Given the description of an element on the screen output the (x, y) to click on. 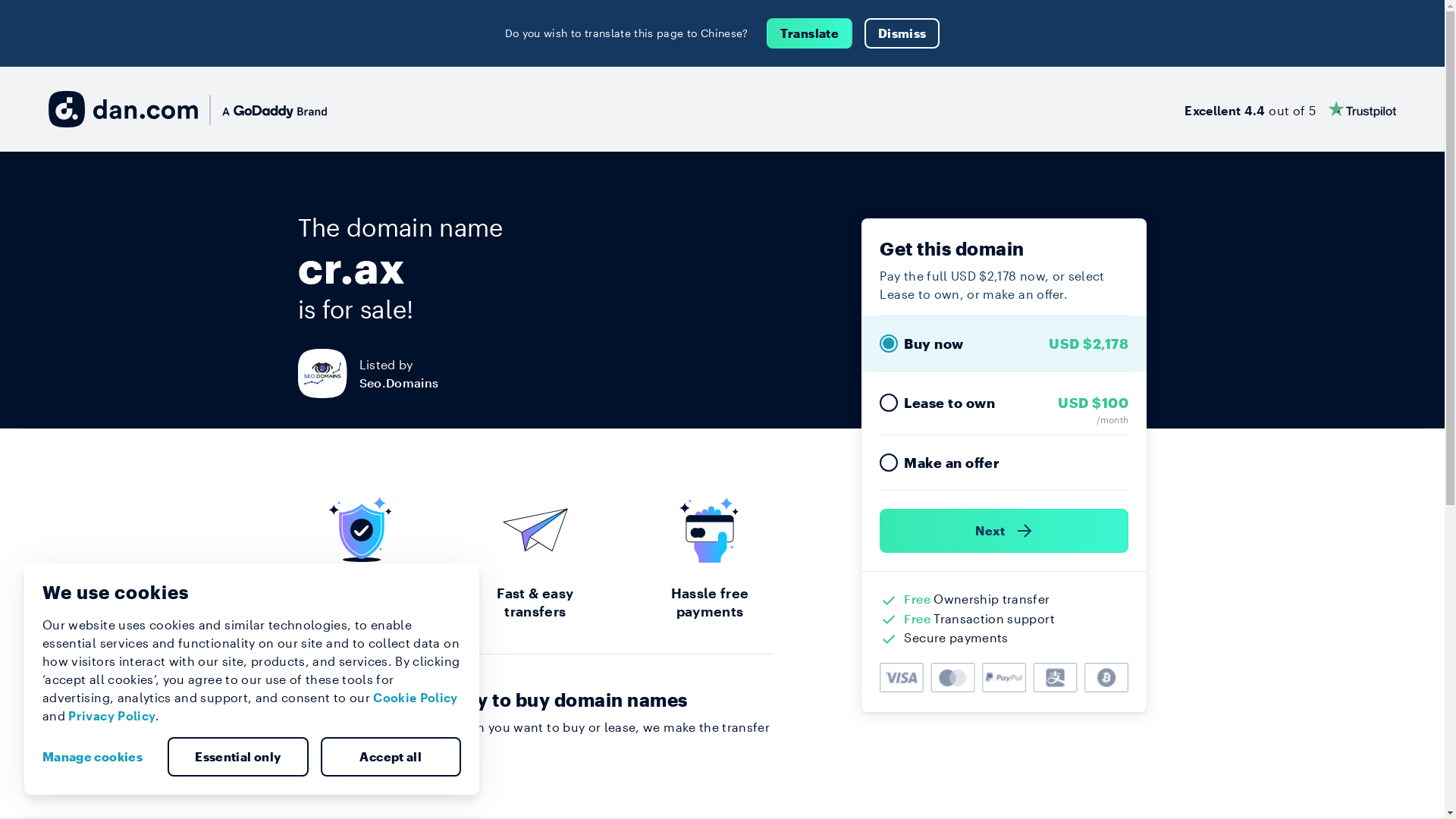
Manage cookies Element type: text (98, 756)
Dismiss Element type: text (901, 33)
Privacy Policy Element type: text (111, 715)
Excellent 4.4 out of 5 Element type: text (1290, 109)
Cookie Policy Element type: text (415, 697)
Accept all Element type: text (390, 756)
Translate Element type: text (809, 33)
Essential only Element type: text (237, 756)
Next
) Element type: text (1003, 530)
